Given the description of an element on the screen output the (x, y) to click on. 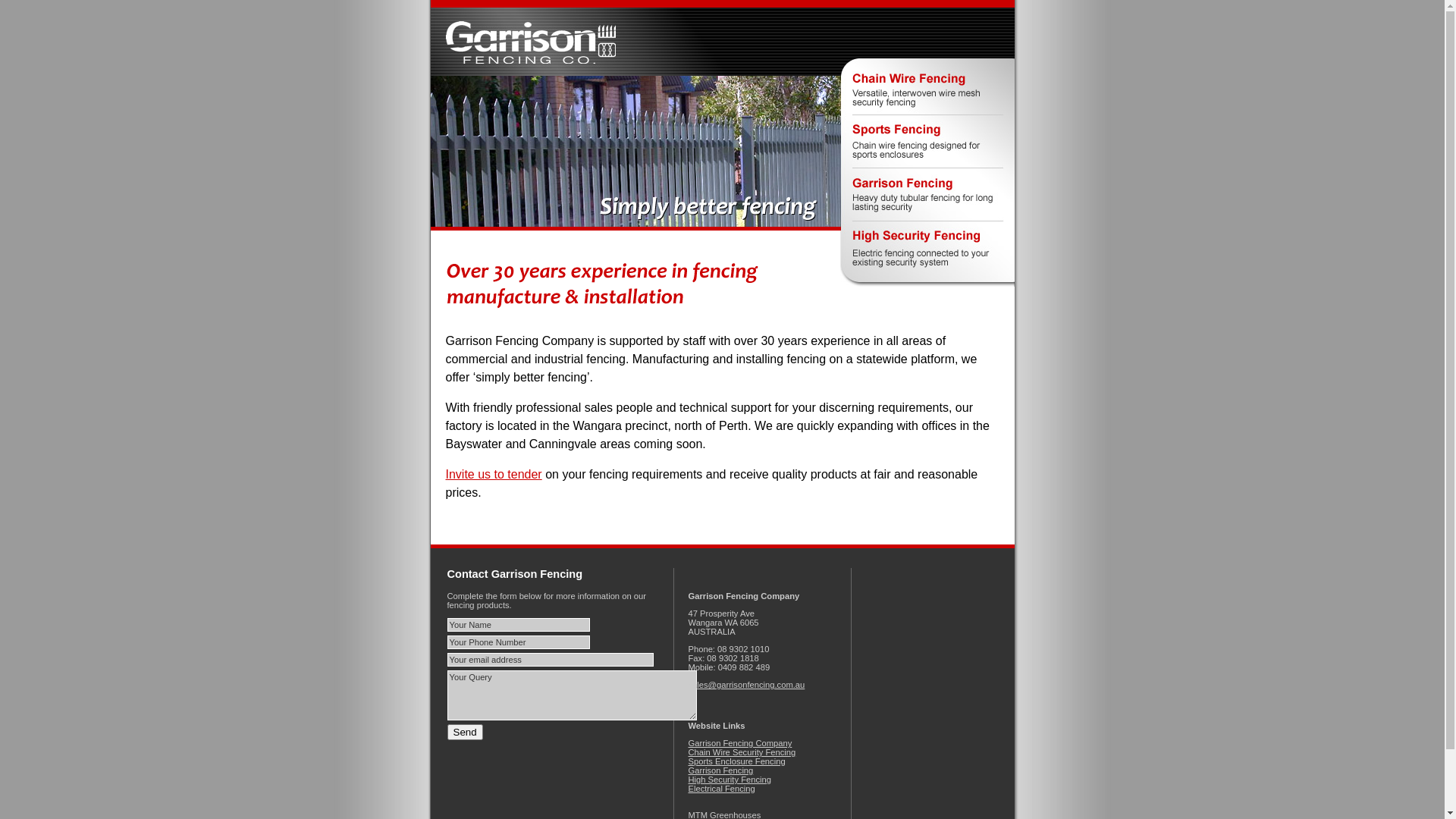
Send Element type: text (465, 732)
Garrison Fencing Element type: text (720, 770)
Chain Wire Security Fencing Element type: text (742, 751)
Garrison Fencing Company Element type: text (740, 742)
Invite us to tender Element type: text (493, 473)
Sports Enclosure Fencing Element type: text (736, 760)
Electrical Fencing Element type: text (721, 788)
Simply better fencing - Garrison Fencing Element type: hover (722, 150)
sales@garrisonfencing.com.au Element type: text (746, 684)
High Security Fencing Element type: text (729, 779)
